Given the description of an element on the screen output the (x, y) to click on. 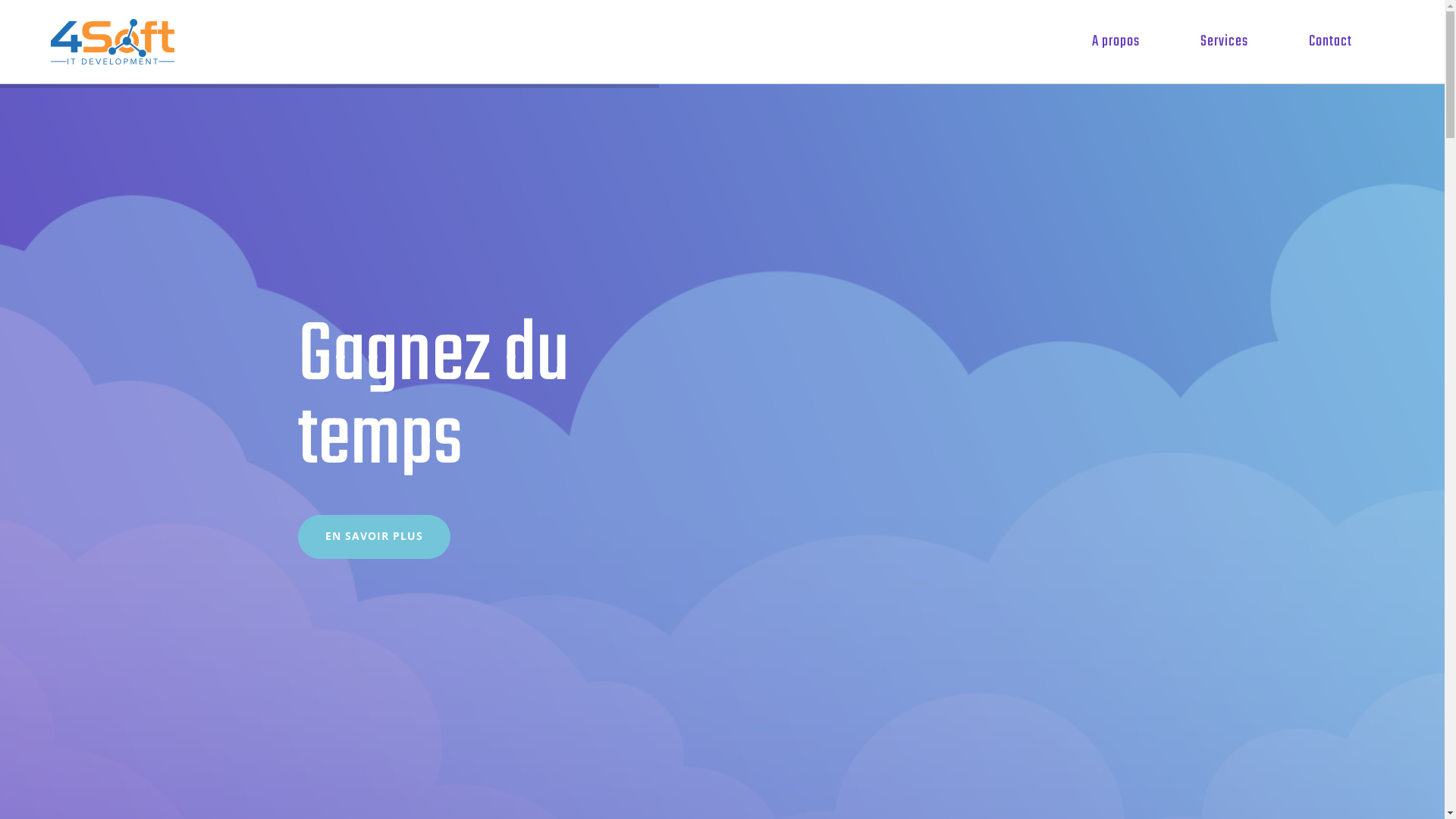
A propos Element type: text (1115, 41)
Services Element type: text (1224, 41)
Contact Element type: text (1330, 41)
